Given the description of an element on the screen output the (x, y) to click on. 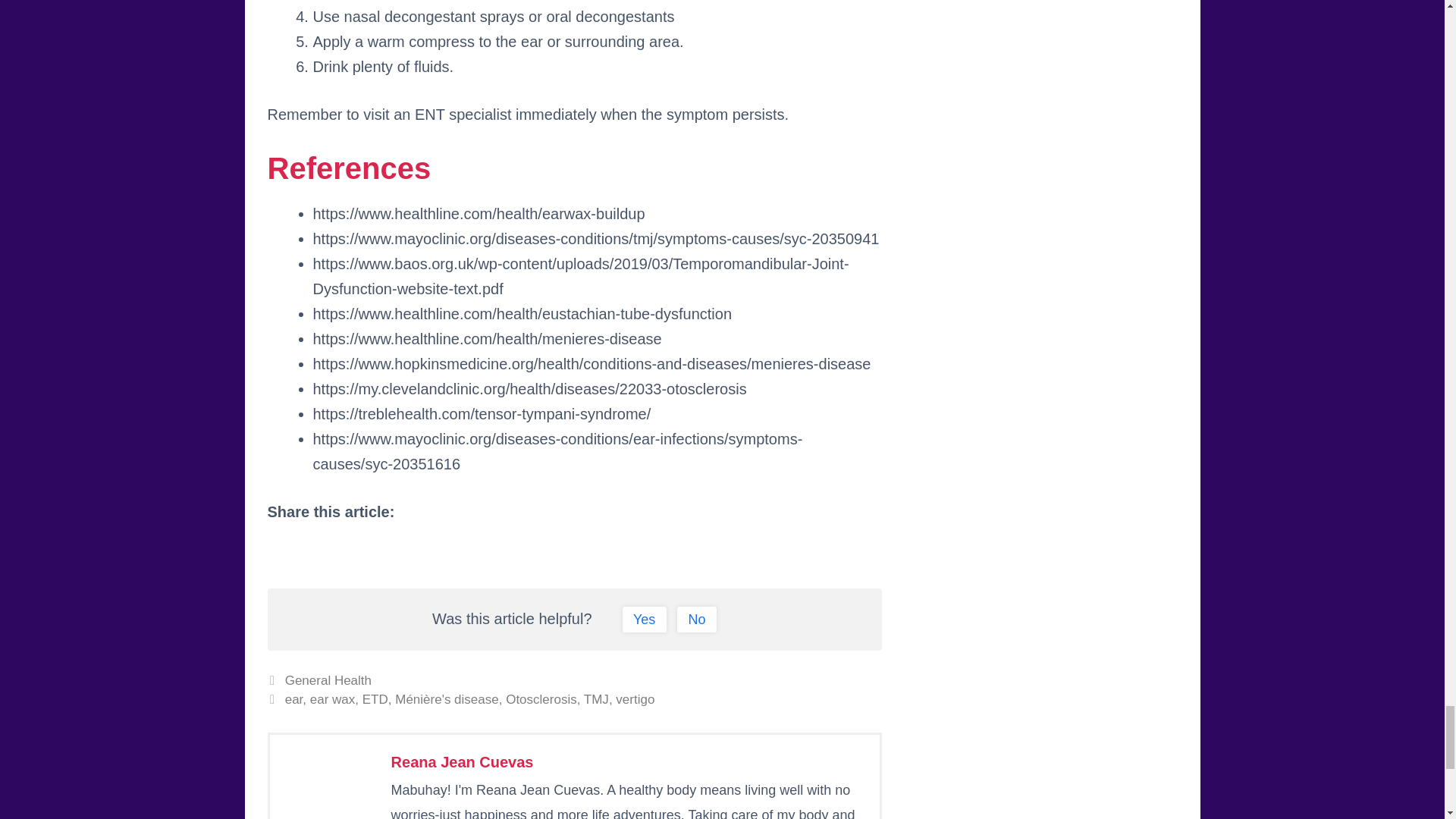
ear wax (332, 699)
vertigo (634, 699)
ear (293, 699)
General Health (328, 680)
Otosclerosis (540, 699)
ETD (375, 699)
TMJ (595, 699)
Reana Jean Cuevas (462, 761)
